Given the description of an element on the screen output the (x, y) to click on. 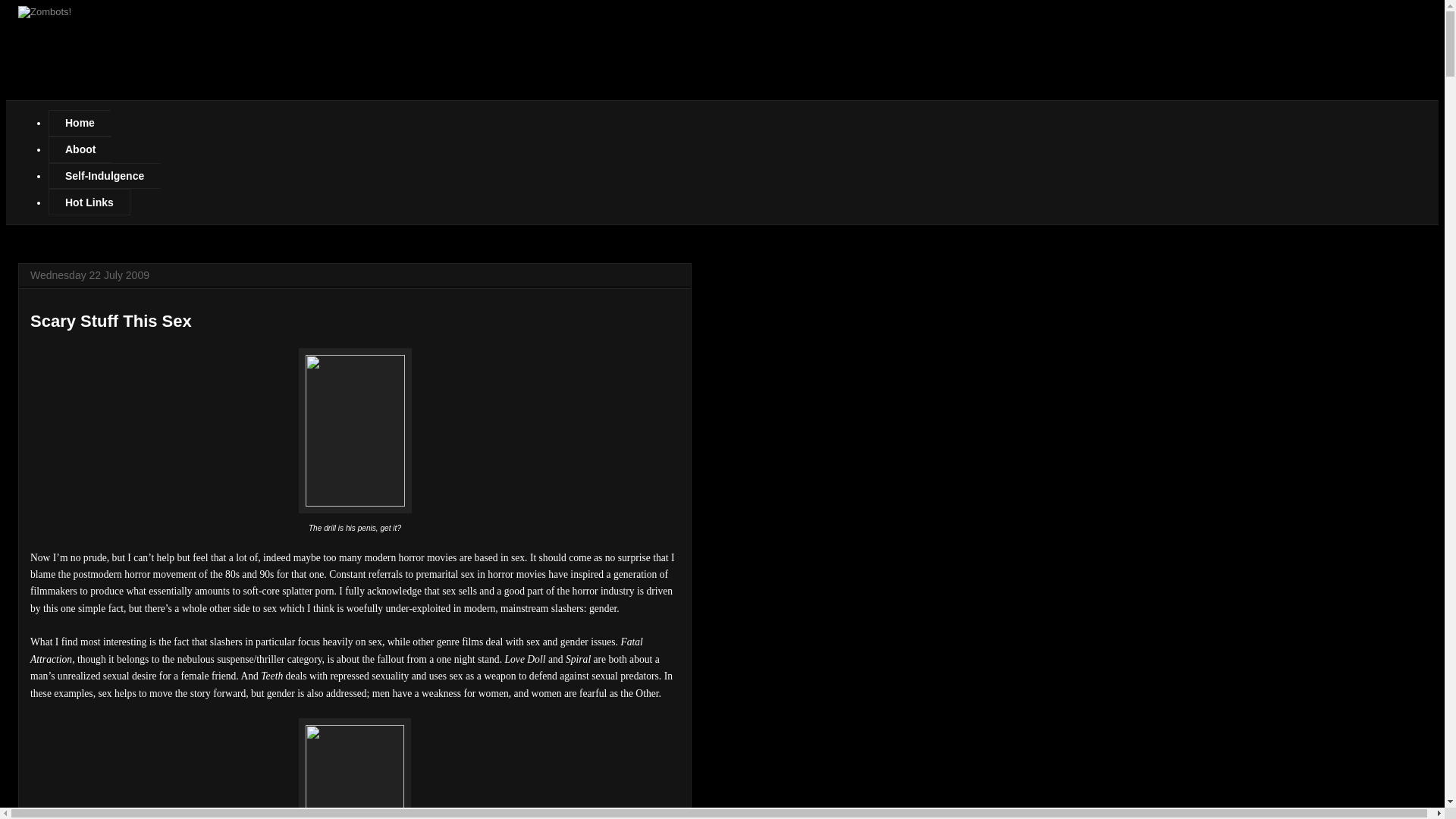
Aboot (80, 149)
Hot Links (89, 202)
Self-Indulgence (104, 175)
Home (79, 122)
